Given the description of an element on the screen output the (x, y) to click on. 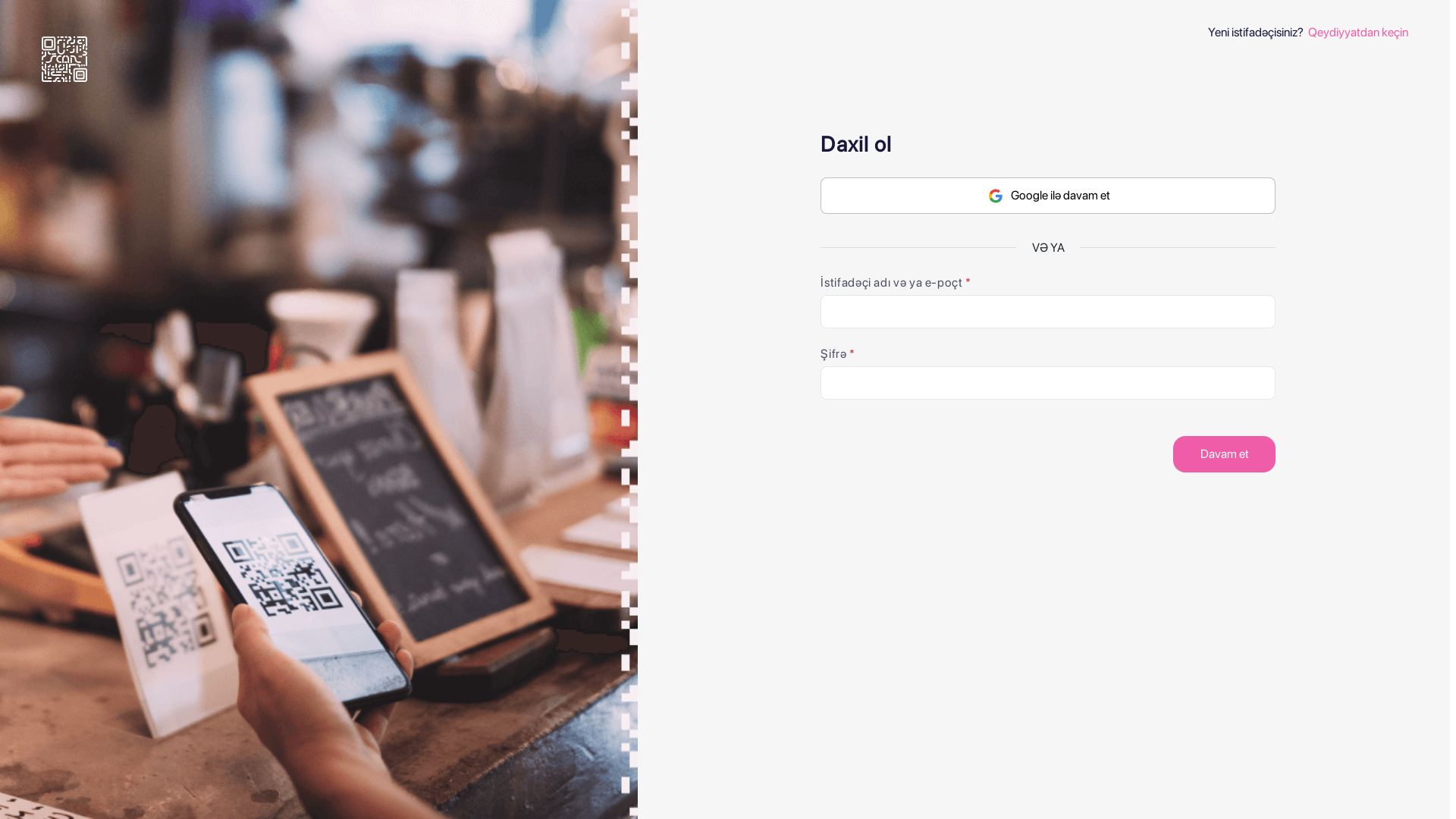
Davam et Element type: text (1224, 454)
